Given the description of an element on the screen output the (x, y) to click on. 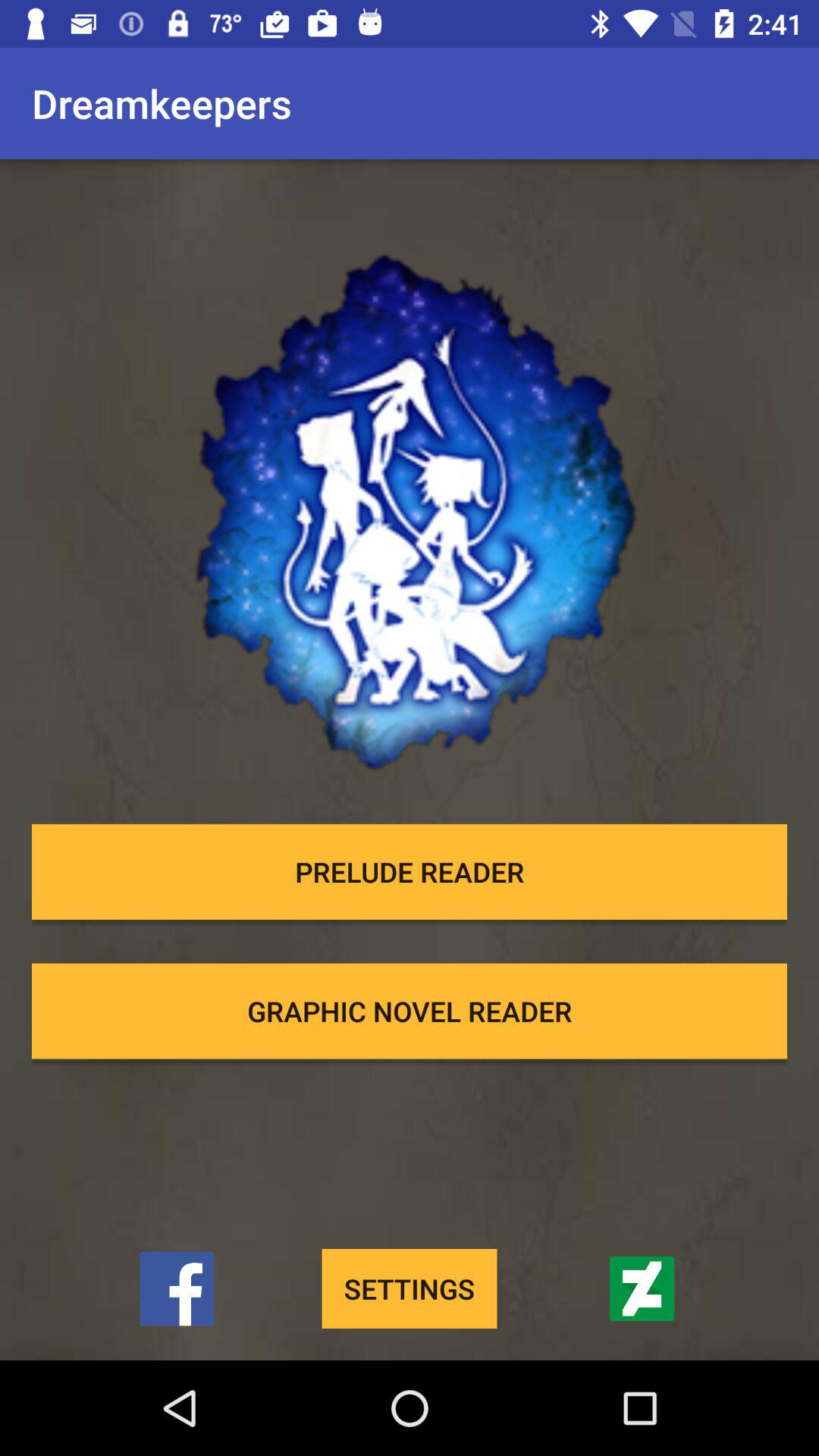
swipe until prelude reader item (409, 871)
